Given the description of an element on the screen output the (x, y) to click on. 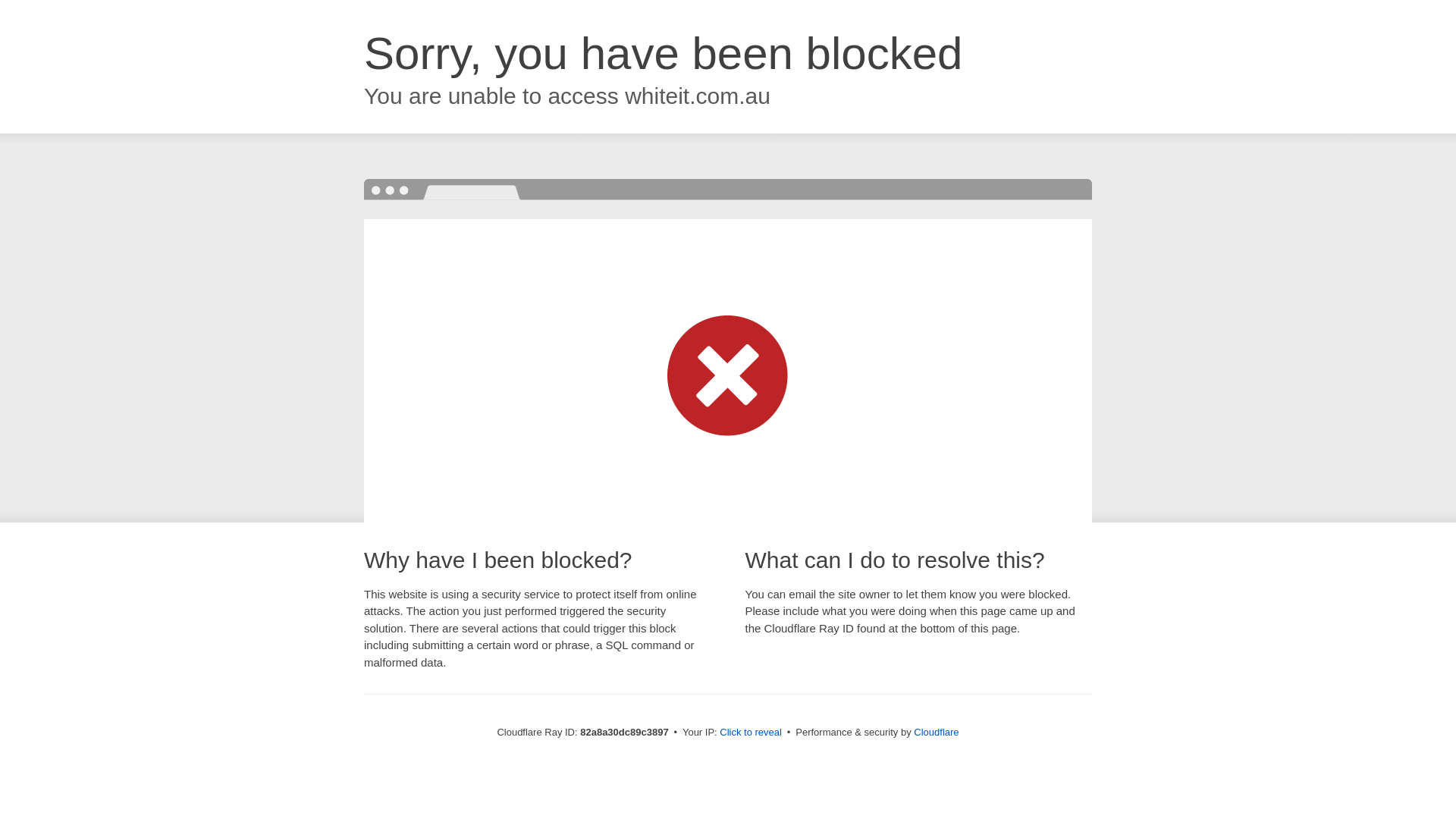
Click to reveal Element type: text (750, 732)
Cloudflare Element type: text (935, 731)
